Given the description of an element on the screen output the (x, y) to click on. 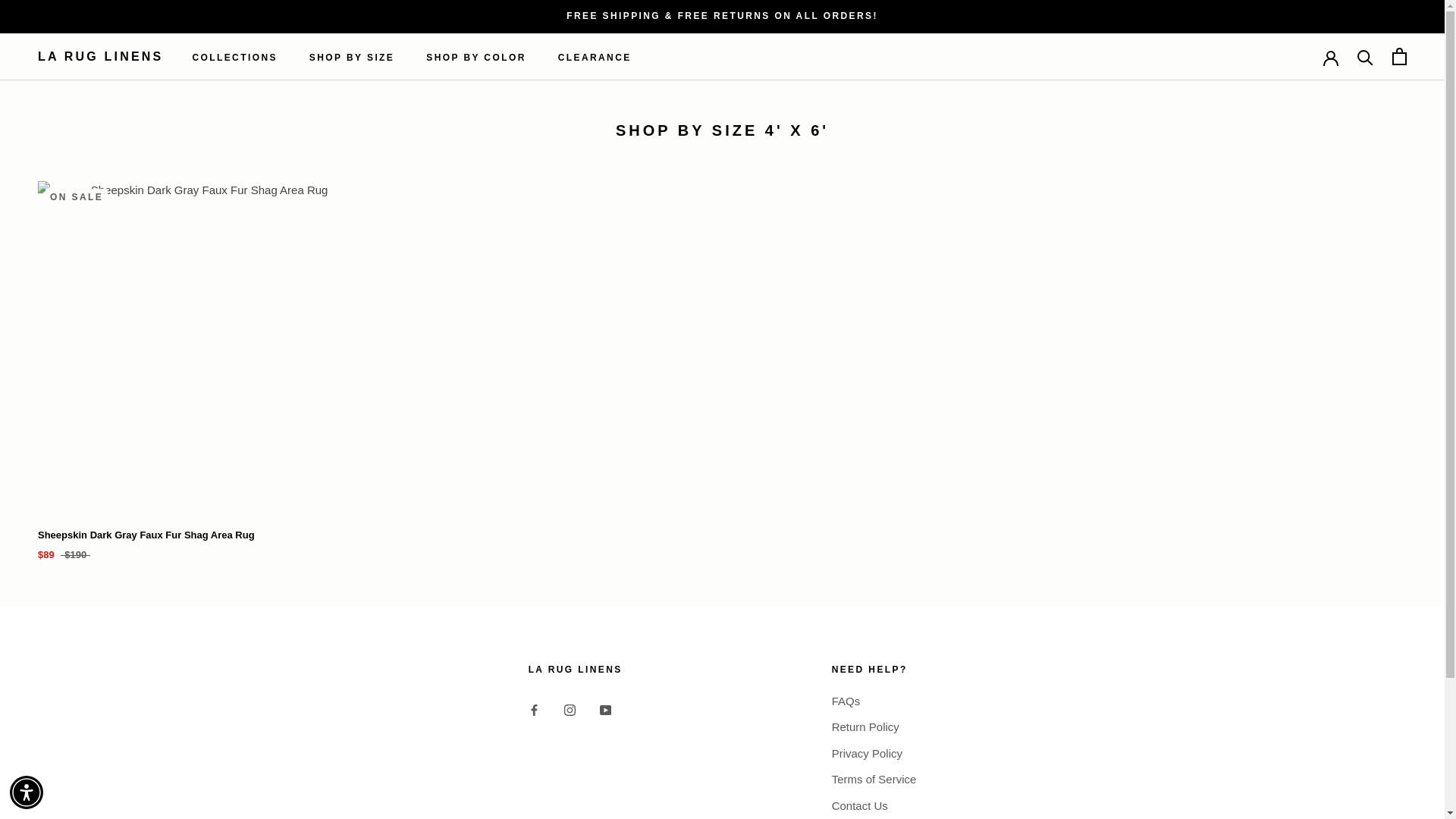
COLLECTIONS (234, 57)
Accessibility Menu (26, 792)
